Given the description of an element on the screen output the (x, y) to click on. 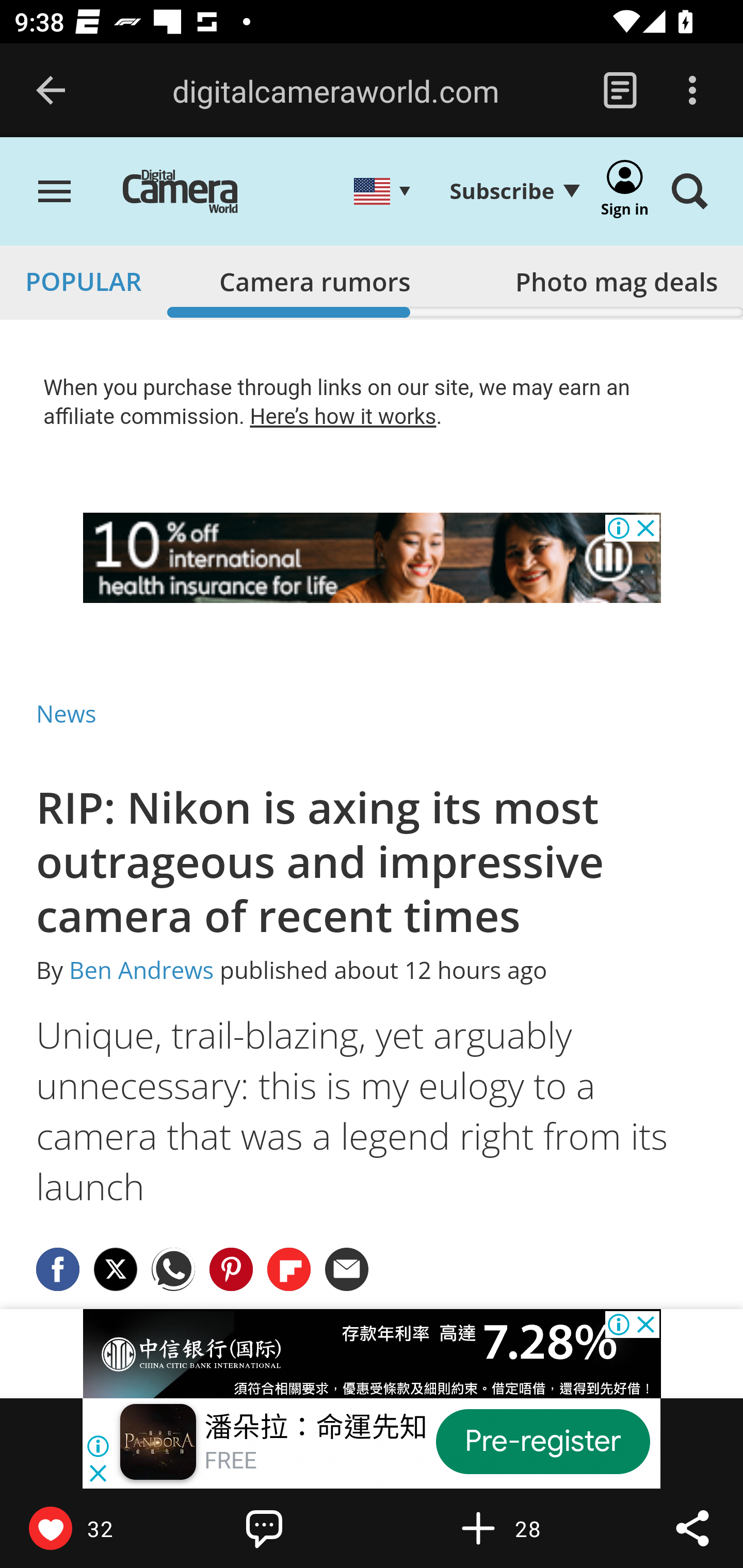
Back (50, 90)
Reader View (619, 90)
Options (692, 90)
Open menu (54, 192)
Digital Camera World (194, 192)
Sign in (625, 192)
Search (689, 192)
Subscribe (514, 190)
Camera rumors (314, 281)
Photo mag deals (616, 281)
Here’s how it works (342, 415)
Return to News News (66, 712)
Ben Andrews (141, 970)
Share this page on Facebook (58, 1268)
 Share this page on Twitter (115, 1268)
Share this page on WhatsApp (173, 1268)
Share this page on Pinterest (230, 1268)
Share this page on Flipboard (289, 1268)
Share this page on your Email  (347, 1268)
潘朵拉：命運先知 (316, 1428)
Pre-register (542, 1441)
FREE (230, 1461)
Like 32 (93, 1528)
Write a comment… (307, 1528)
Flip into Magazine 28 (521, 1528)
Share (692, 1528)
